Given the description of an element on the screen output the (x, y) to click on. 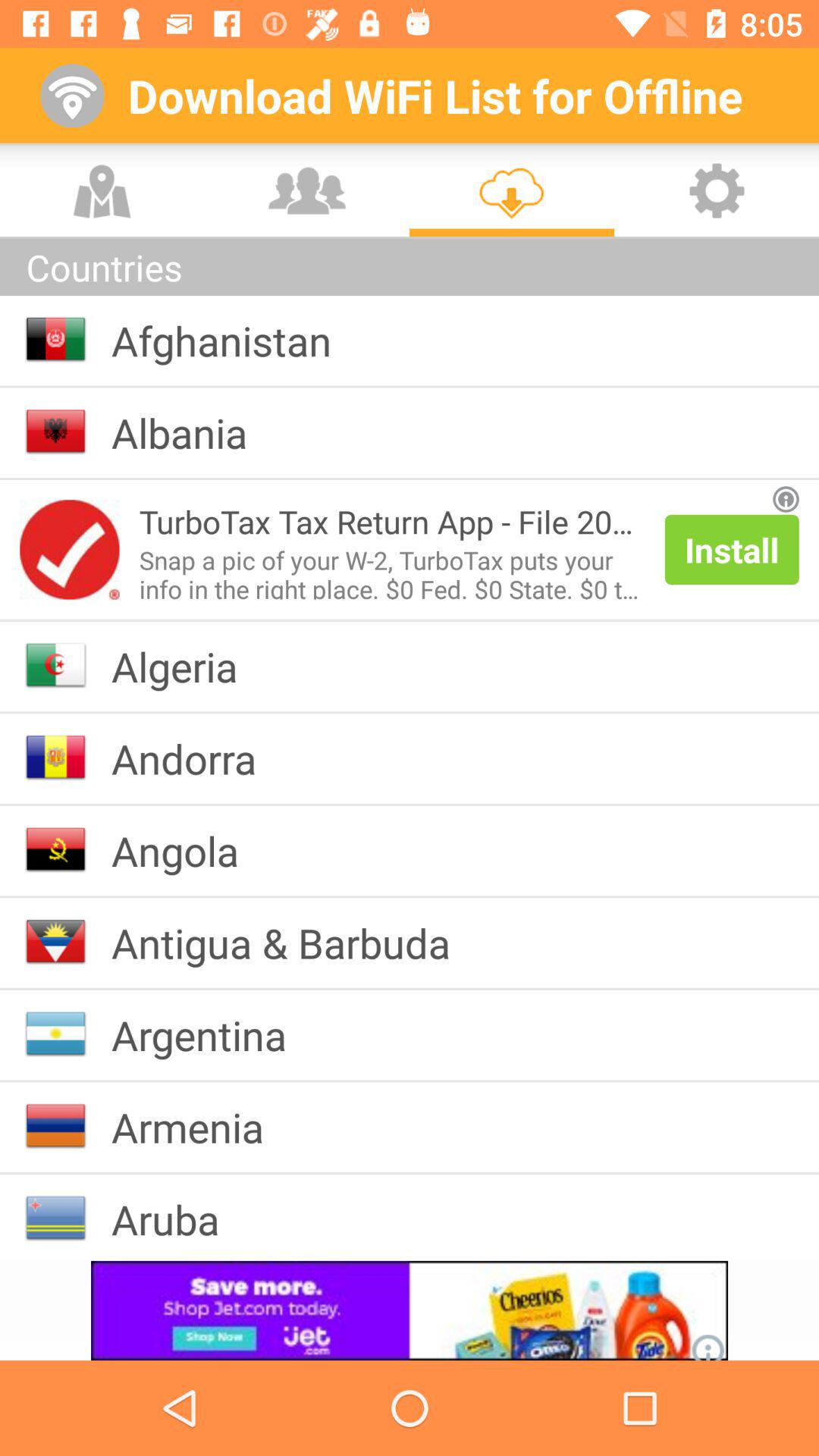
turn on the item above the angola (195, 758)
